Given the description of an element on the screen output the (x, y) to click on. 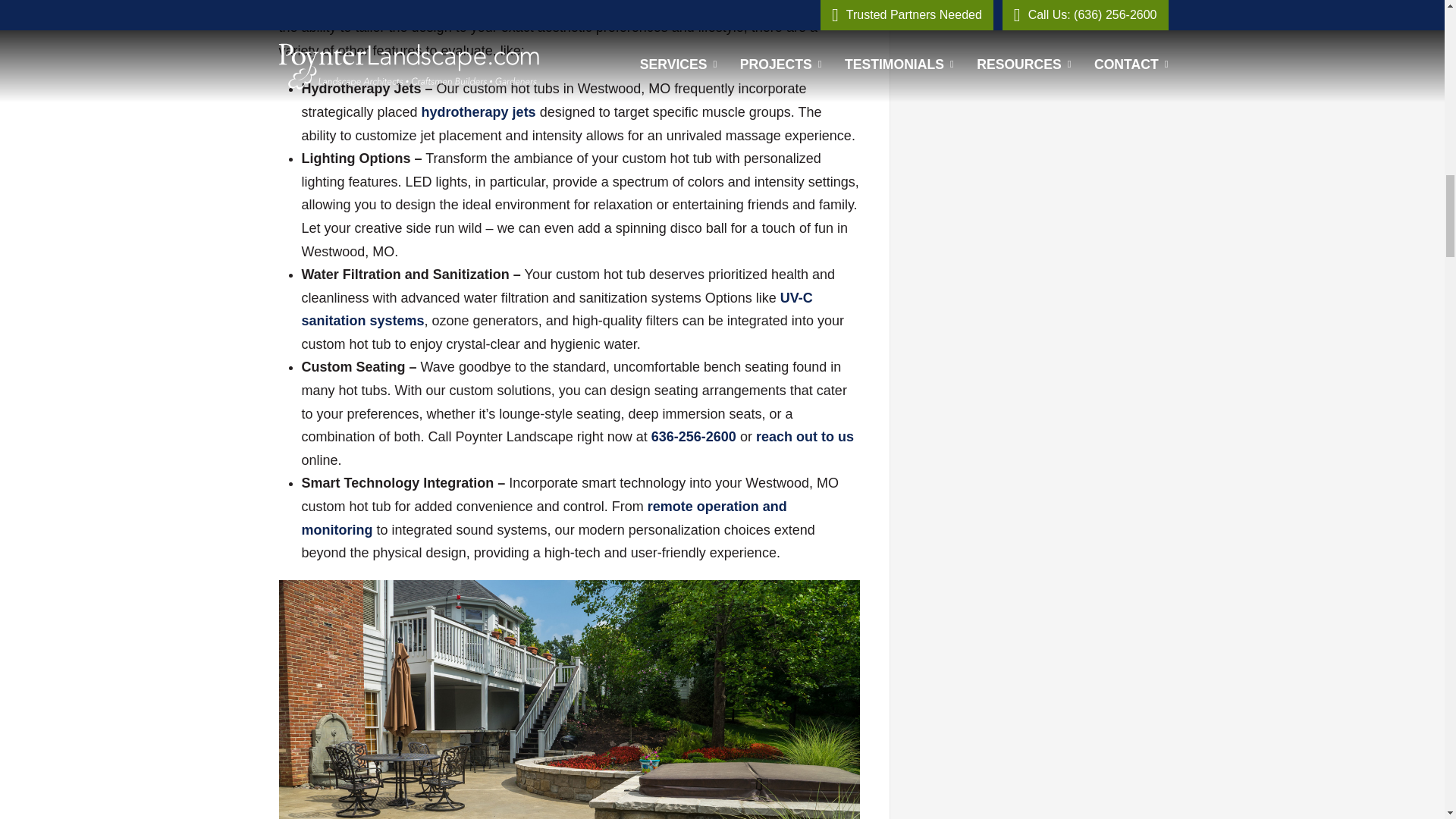
Custom Hot Tubs Westwood, MO - jacuzzi.com (544, 517)
Custom Hot Tubs Westwood, MO - GoodRx (478, 111)
Custom Hot Tubs Westwood, MO - luxx.com (556, 309)
